Given the description of an element on the screen output the (x, y) to click on. 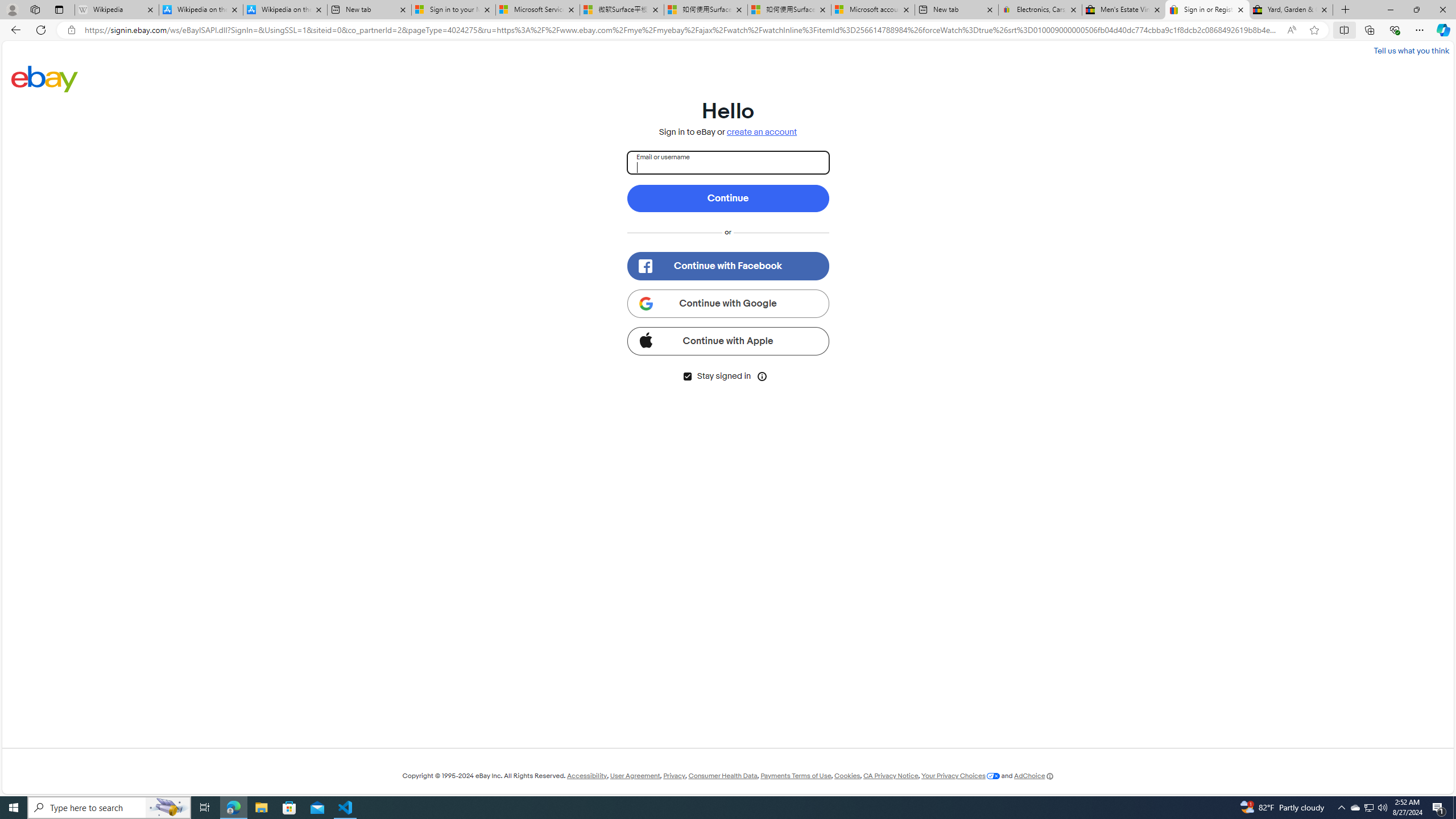
Stay signed in (687, 376)
Class: ggl-icon (645, 303)
Your Privacy Choices (960, 775)
Wikipedia - Sleeping (116, 9)
Class: apple-icon (645, 339)
User Agreement (635, 775)
